Given the description of an element on the screen output the (x, y) to click on. 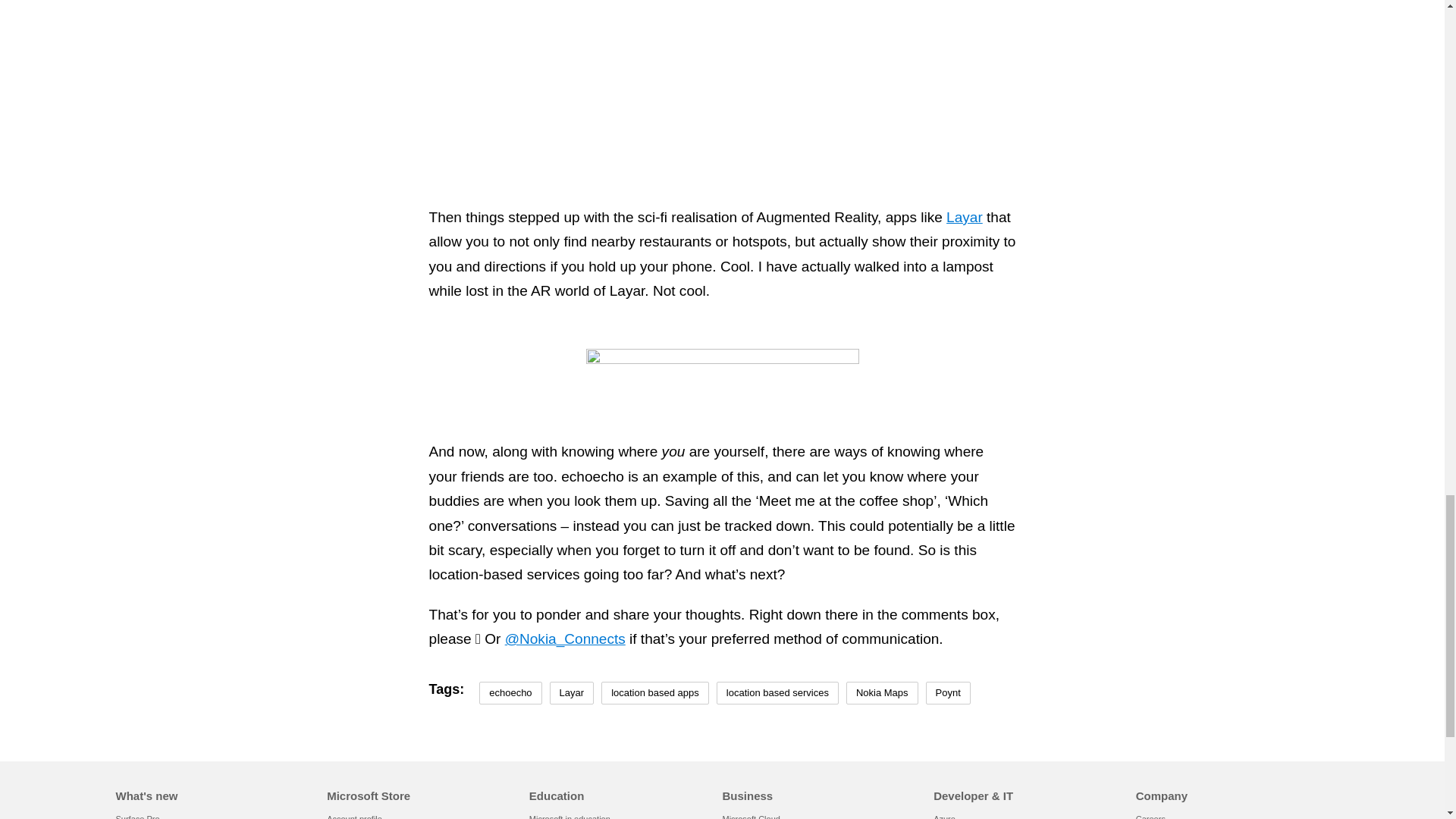
echoecho Tag (510, 693)
Layar Tag (572, 693)
location based apps Tag (655, 693)
location based services Tag (777, 693)
Nokia Maps Tag (881, 693)
Poynt Tag (948, 693)
